Given the description of an element on the screen output the (x, y) to click on. 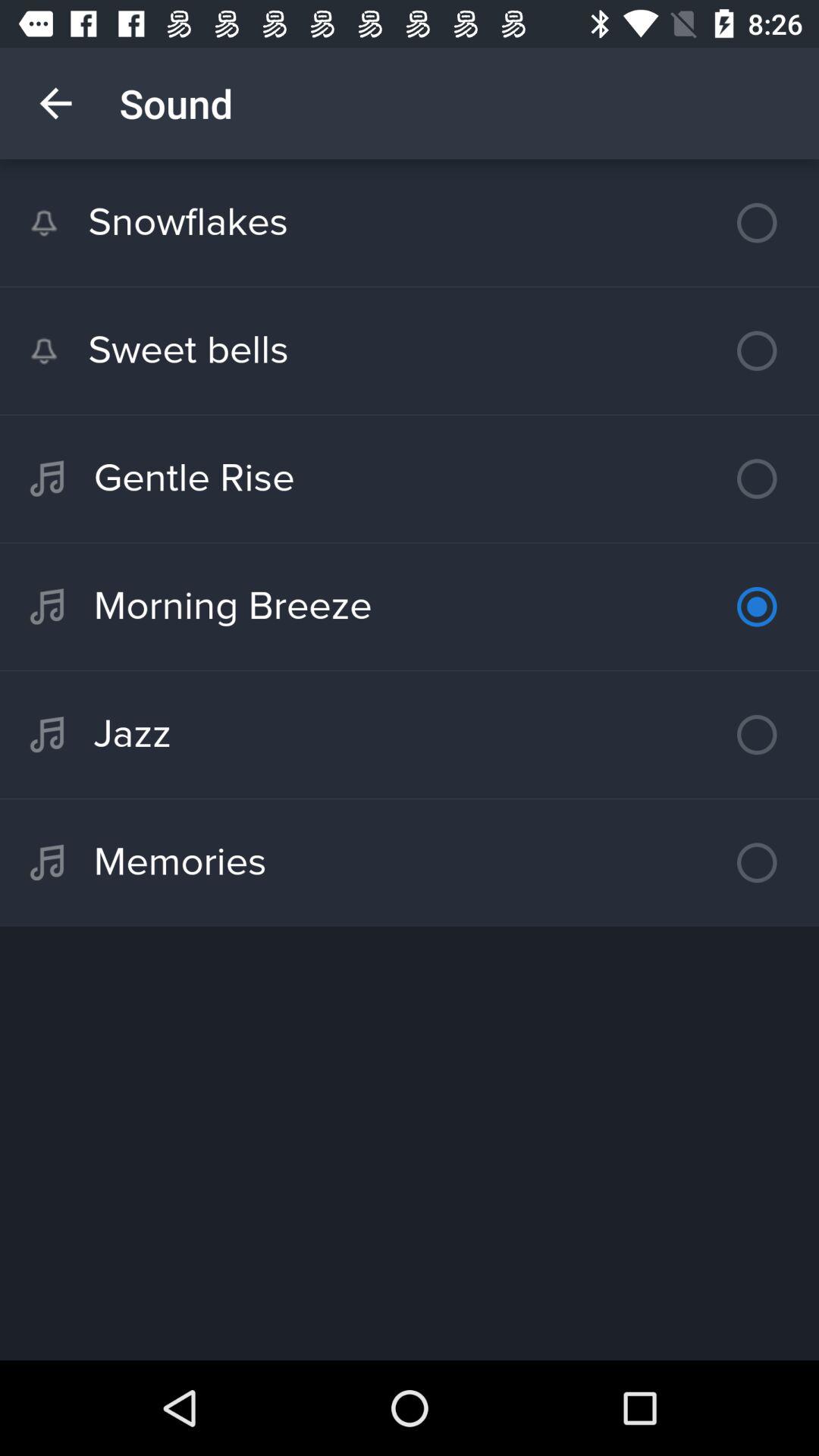
tap the icon below the snowflakes icon (409, 350)
